Given the description of an element on the screen output the (x, y) to click on. 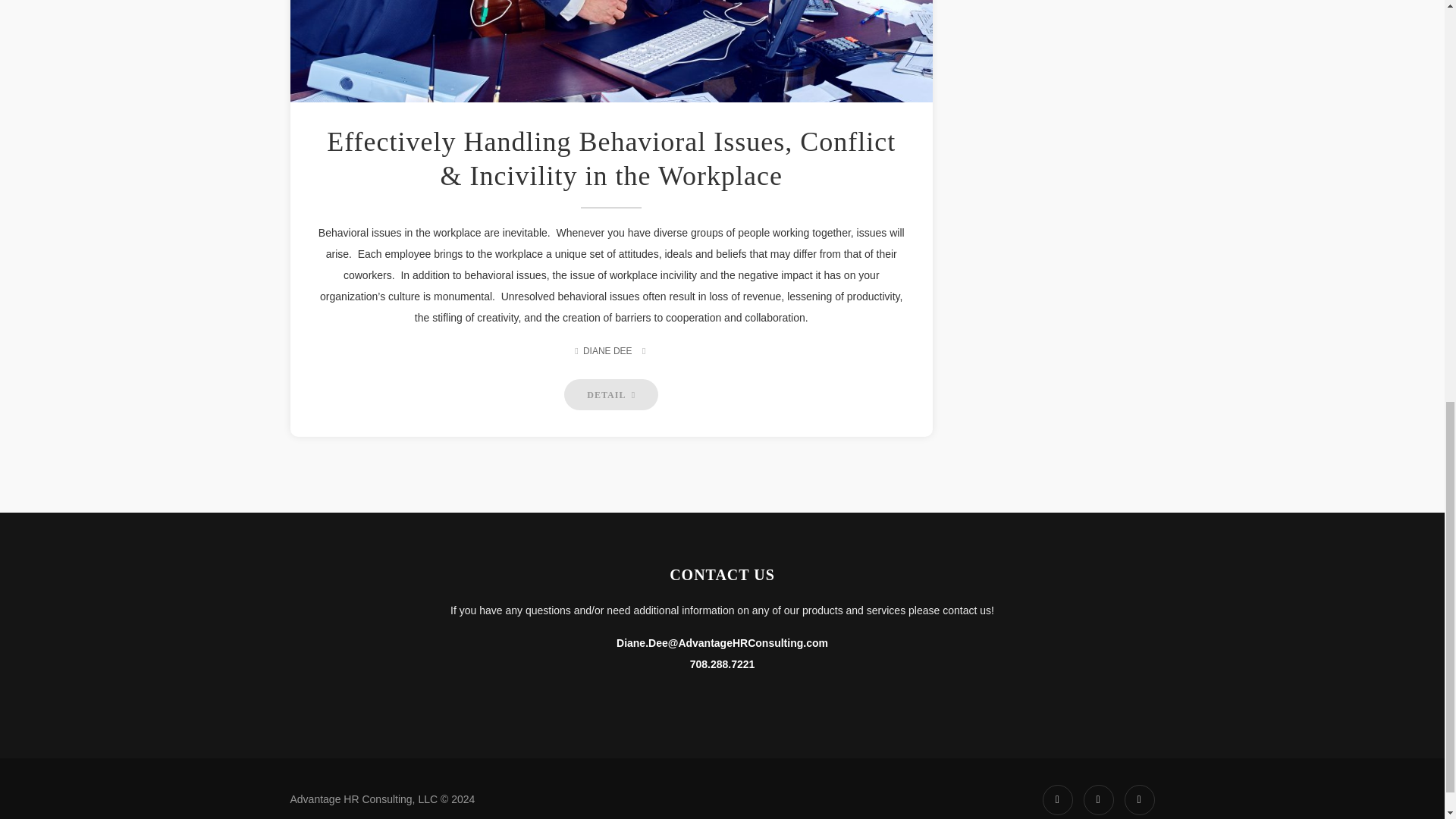
Posts by Diane Dee (607, 350)
DETAIL (611, 394)
DIANE DEE (607, 350)
708.288.7221 (722, 664)
